Given the description of an element on the screen output the (x, y) to click on. 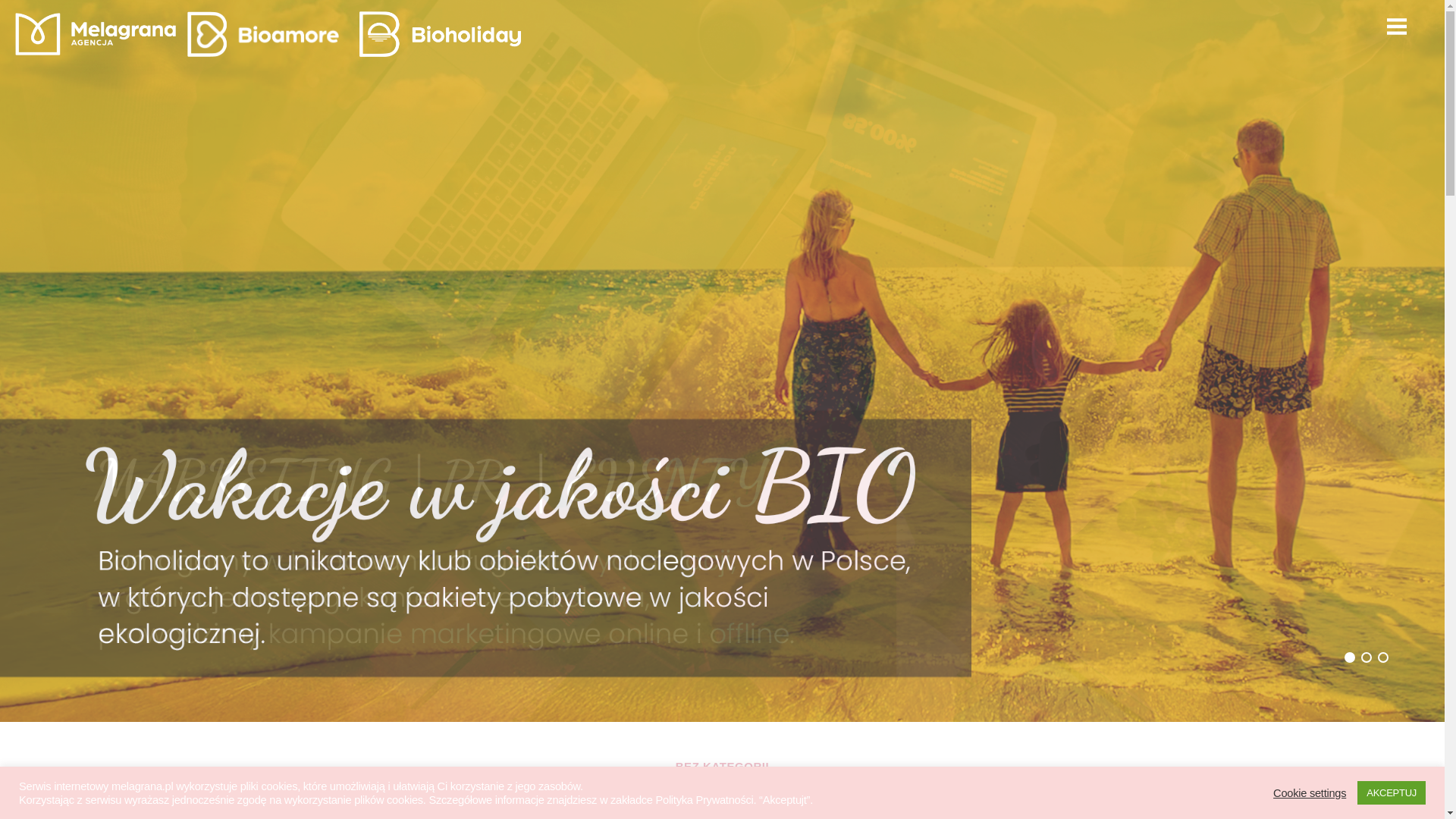
BEZ KATEGORII (722, 767)
Cookie settings (1308, 792)
AKCEPTUJ (1390, 792)
